Given the description of an element on the screen output the (x, y) to click on. 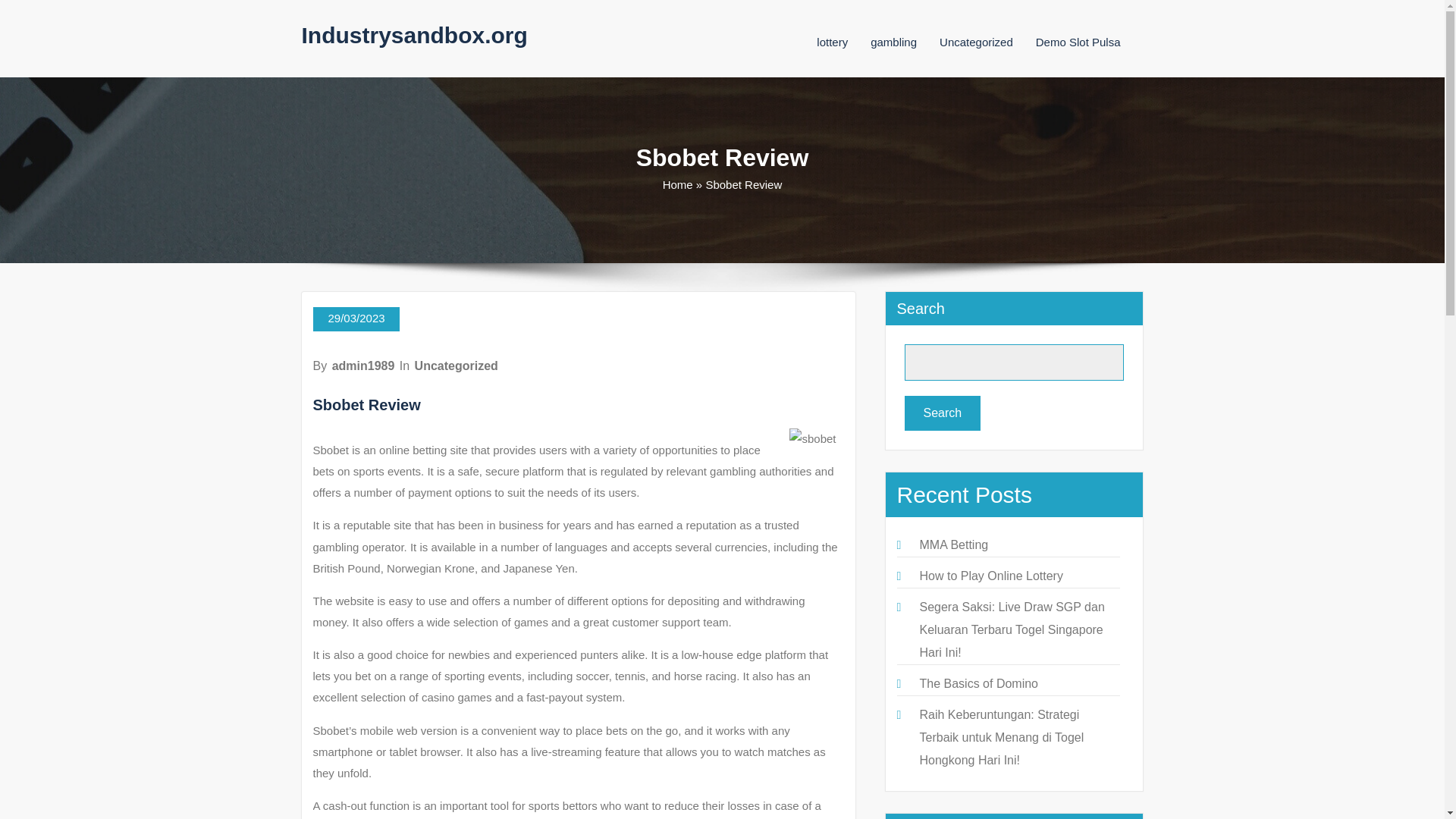
Uncategorized (976, 41)
The Basics of Domino (978, 683)
Demo Slot Pulsa (1078, 41)
How to Play Online Lottery (990, 575)
MMA Betting (953, 544)
Uncategorized (456, 365)
admin1989 (363, 365)
gambling (893, 41)
Home (677, 184)
